Given the description of an element on the screen output the (x, y) to click on. 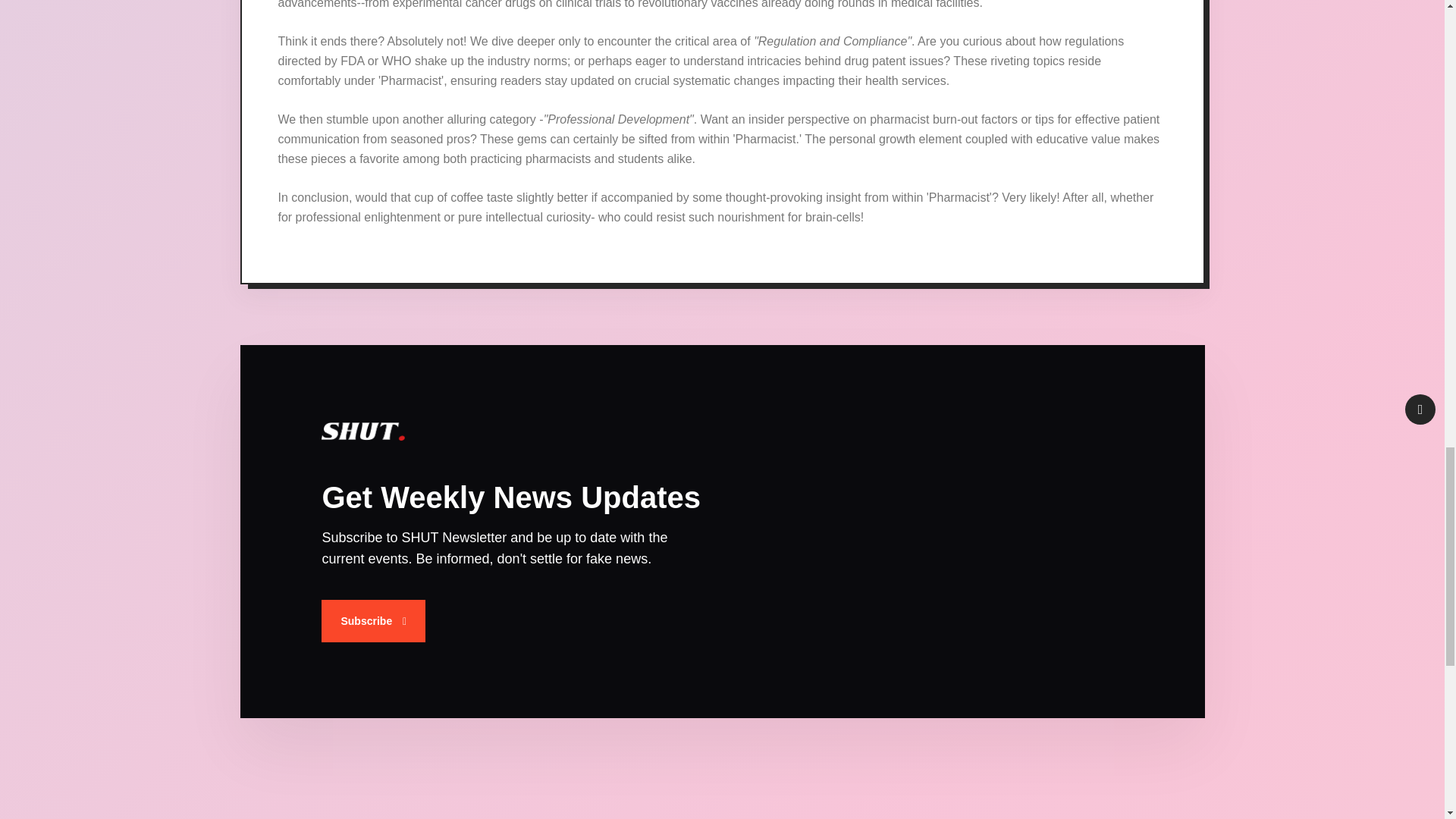
Subscribe (373, 620)
